Given the description of an element on the screen output the (x, y) to click on. 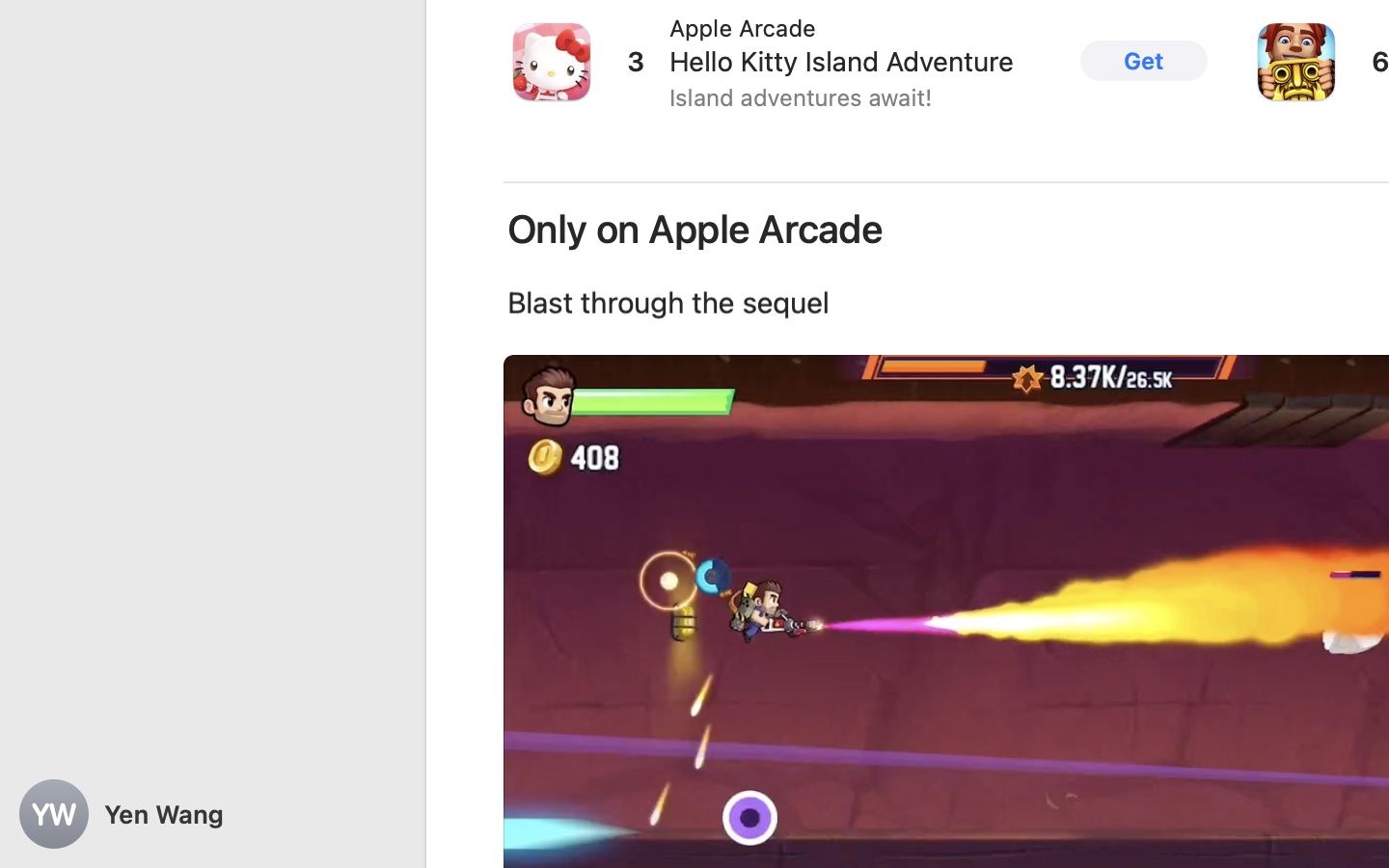
Only on Apple Arcade Element type: AXStaticText (695, 229)
Yen Wang Element type: AXButton (212, 813)
